Given the description of an element on the screen output the (x, y) to click on. 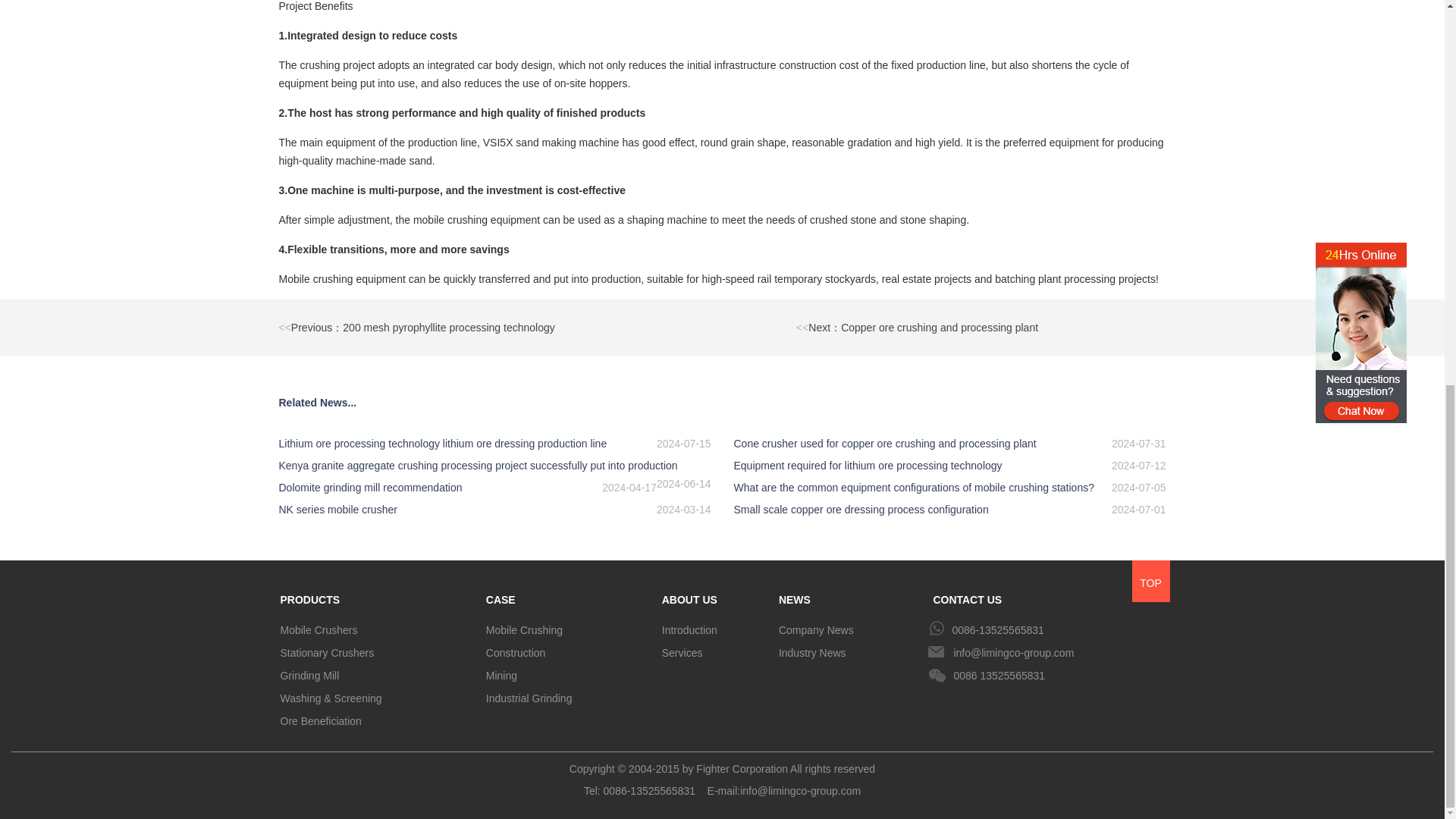
Mobile Crushers (377, 630)
Company News (850, 630)
CONTACT US (1048, 596)
Grinding Mill (377, 675)
ABOUT US (714, 596)
0086-13525565831 (1048, 630)
NEWS (850, 596)
Mining (568, 675)
Services (714, 652)
Mobile Crushing (568, 630)
Industrial Grinding (568, 698)
PRODUCTS (377, 596)
CASE (568, 596)
Ore Beneficiation (377, 721)
Introduction (714, 630)
